Given the description of an element on the screen output the (x, y) to click on. 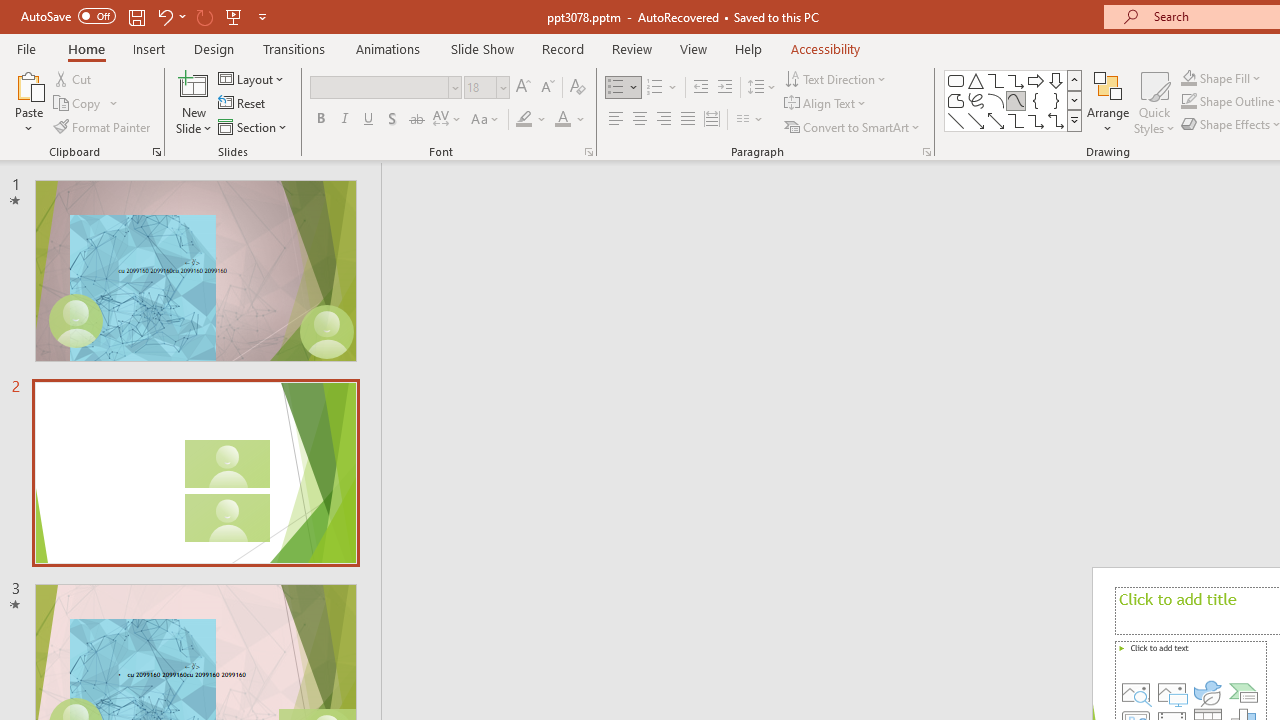
Connector: Elbow Double-Arrow (1055, 120)
Shape Outline Green, Accent 1 (1188, 101)
